Given the description of an element on the screen output the (x, y) to click on. 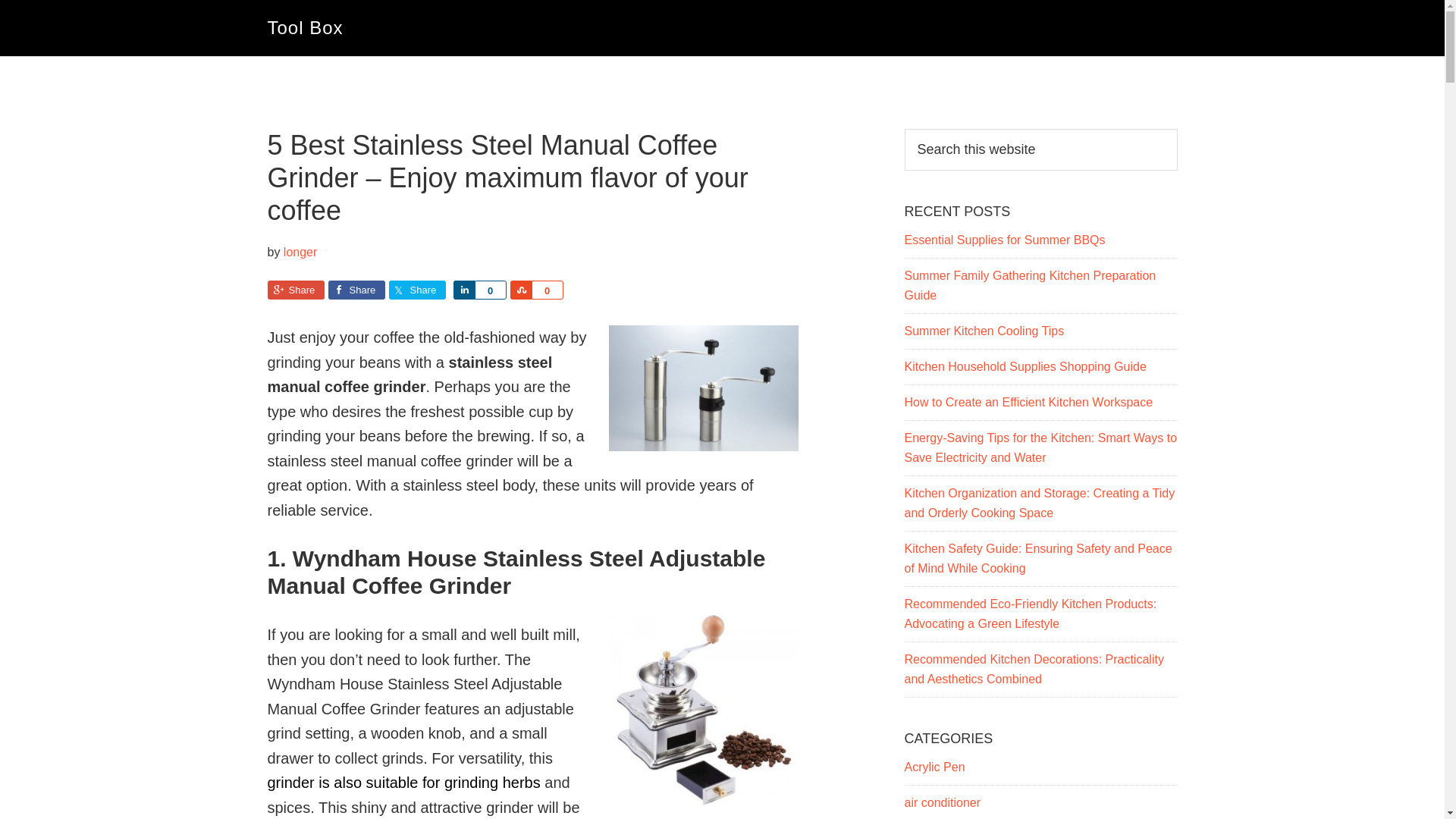
Tool Box (304, 27)
Share (416, 289)
grinder is also suitable for grinding herbs (403, 782)
Share (520, 289)
0 (546, 289)
Share (463, 289)
Share (294, 289)
Share (355, 289)
longer (300, 251)
0 (490, 289)
